Given the description of an element on the screen output the (x, y) to click on. 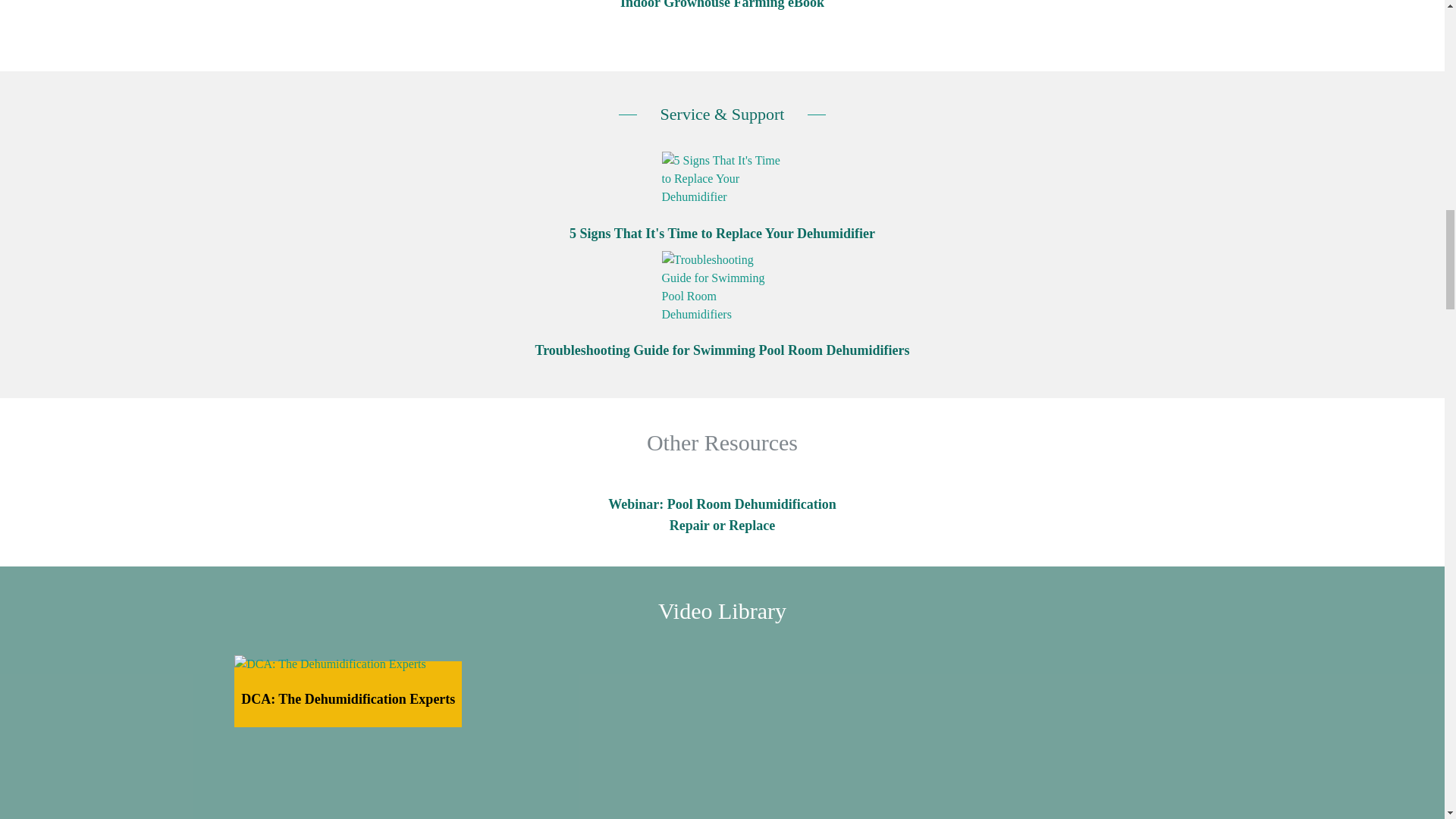
5 Signs That It's Time to Replace Your Dehumidifier (722, 178)
Troubleshooting Guide for Swimming Pool Room Dehumidifiers (722, 286)
DCA: The Dehumidification Experts (347, 664)
